Given the description of an element on the screen output the (x, y) to click on. 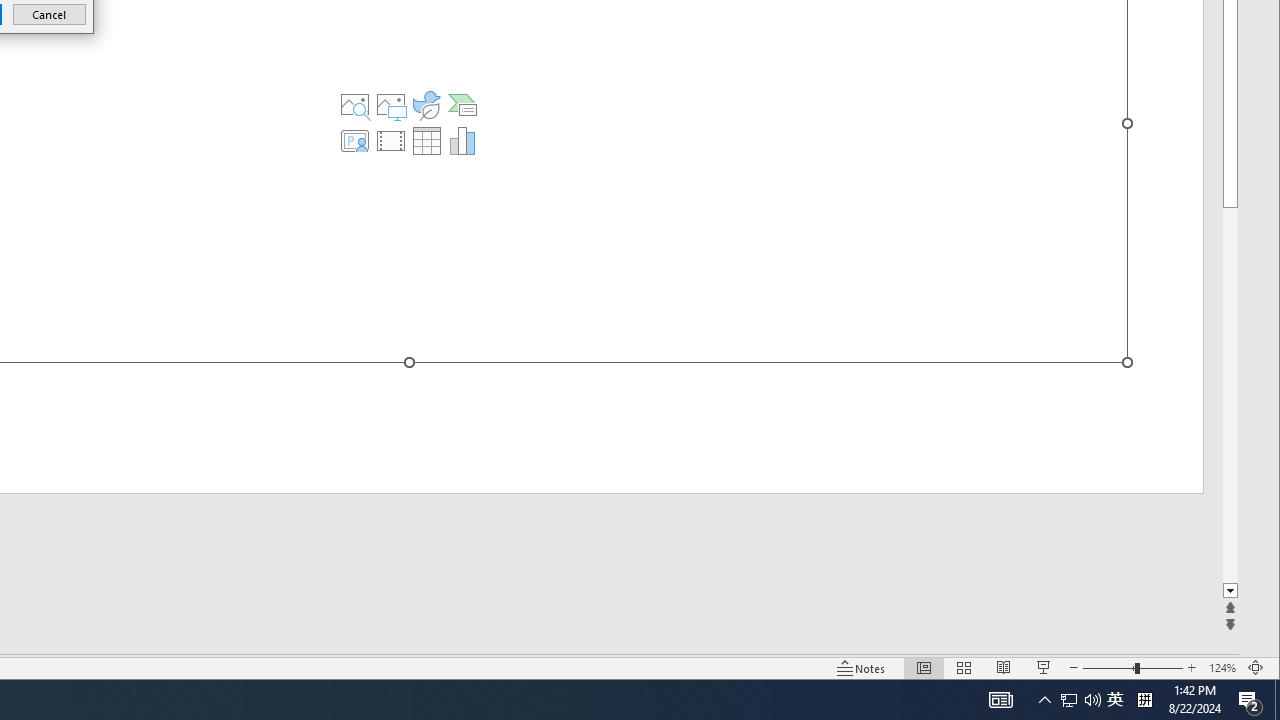
Pictures (391, 104)
Cancel (49, 13)
Insert Cameo (355, 140)
Stock Images (355, 104)
Insert Table (426, 140)
Insert an Icon (426, 104)
